Given the description of an element on the screen output the (x, y) to click on. 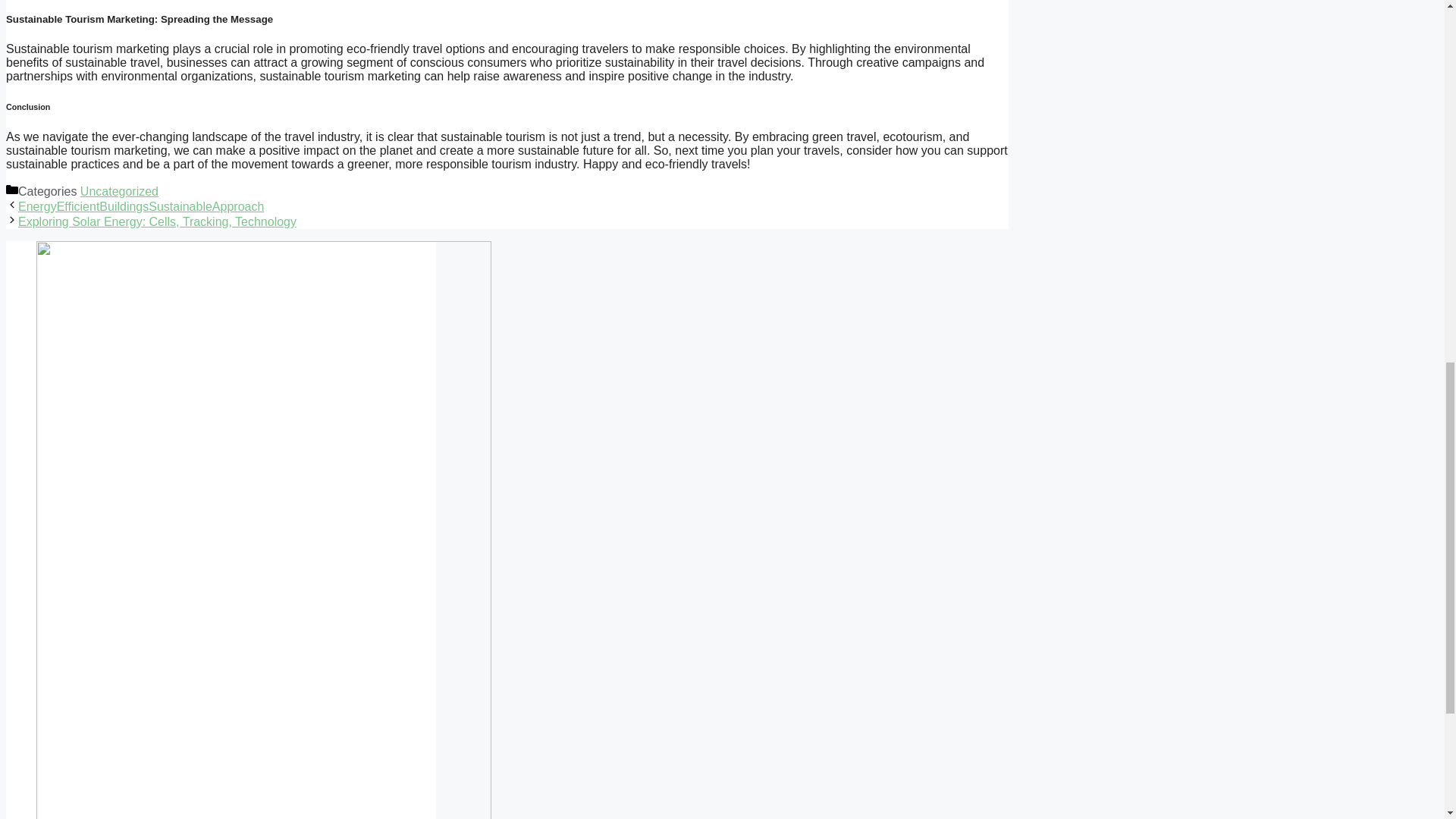
Uncategorized (119, 191)
EnergyEfficientBuildingsSustainableApproach (140, 205)
Exploring Solar Energy: Cells, Tracking, Technology (157, 221)
